Given the description of an element on the screen output the (x, y) to click on. 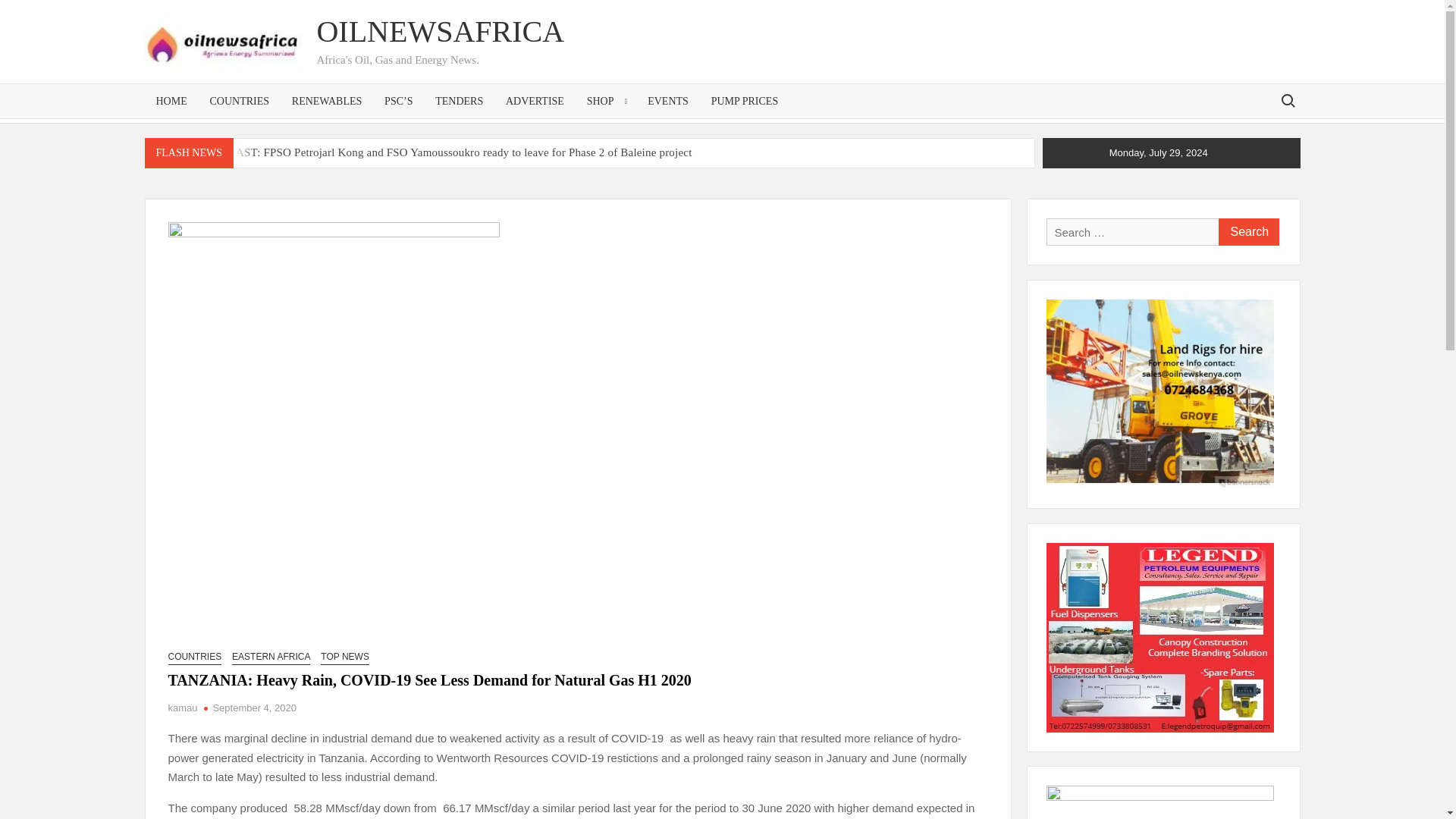
Search (1247, 231)
SHOP (606, 100)
EVENTS (668, 100)
TENDERS (459, 100)
PUMP PRICES (745, 100)
Search (1247, 231)
RENEWABLES (327, 100)
ADVERTISE (535, 100)
COUNTRIES (239, 100)
OILNEWSAFRICA (439, 31)
